Given the description of an element on the screen output the (x, y) to click on. 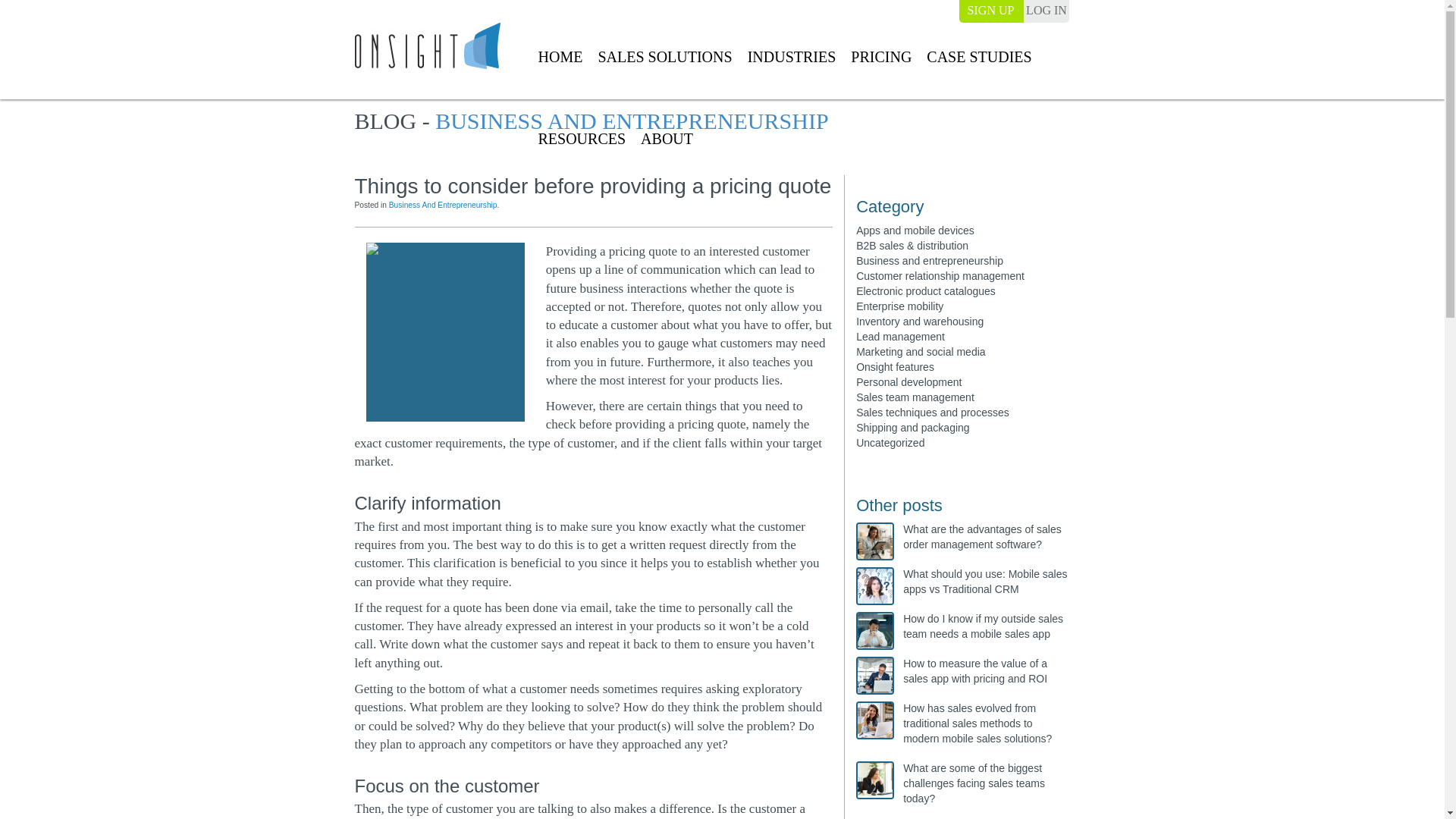
HOME (560, 57)
RESOURCES (581, 139)
PRICING (881, 57)
Onsight (427, 45)
ABOUT (667, 139)
LOG IN (1045, 11)
SIGN UP (990, 11)
SALES SOLUTIONS (664, 57)
INDUSTRIES (792, 57)
CASE STUDIES (979, 57)
